Given the description of an element on the screen output the (x, y) to click on. 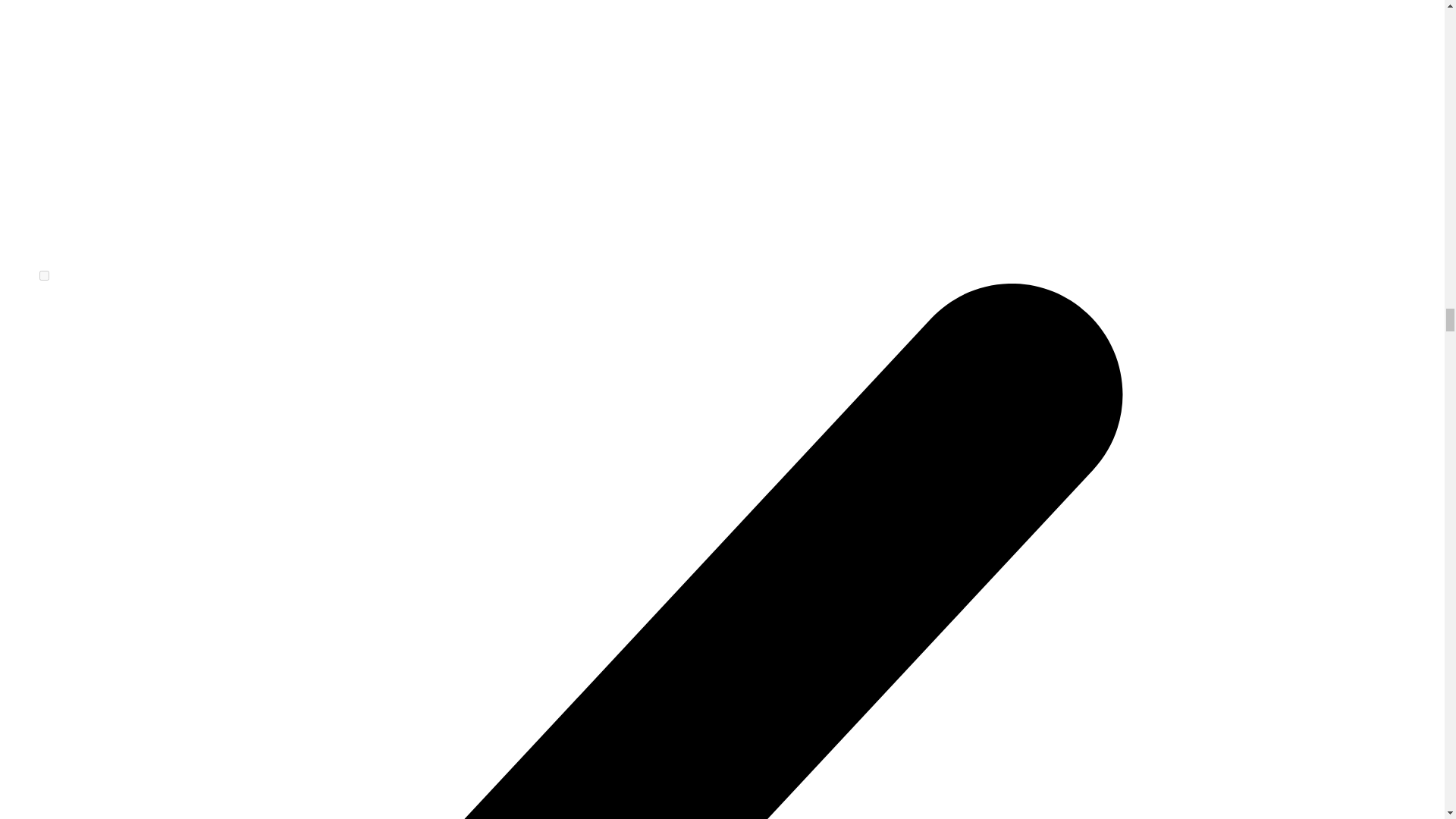
on (44, 275)
